Given the description of an element on the screen output the (x, y) to click on. 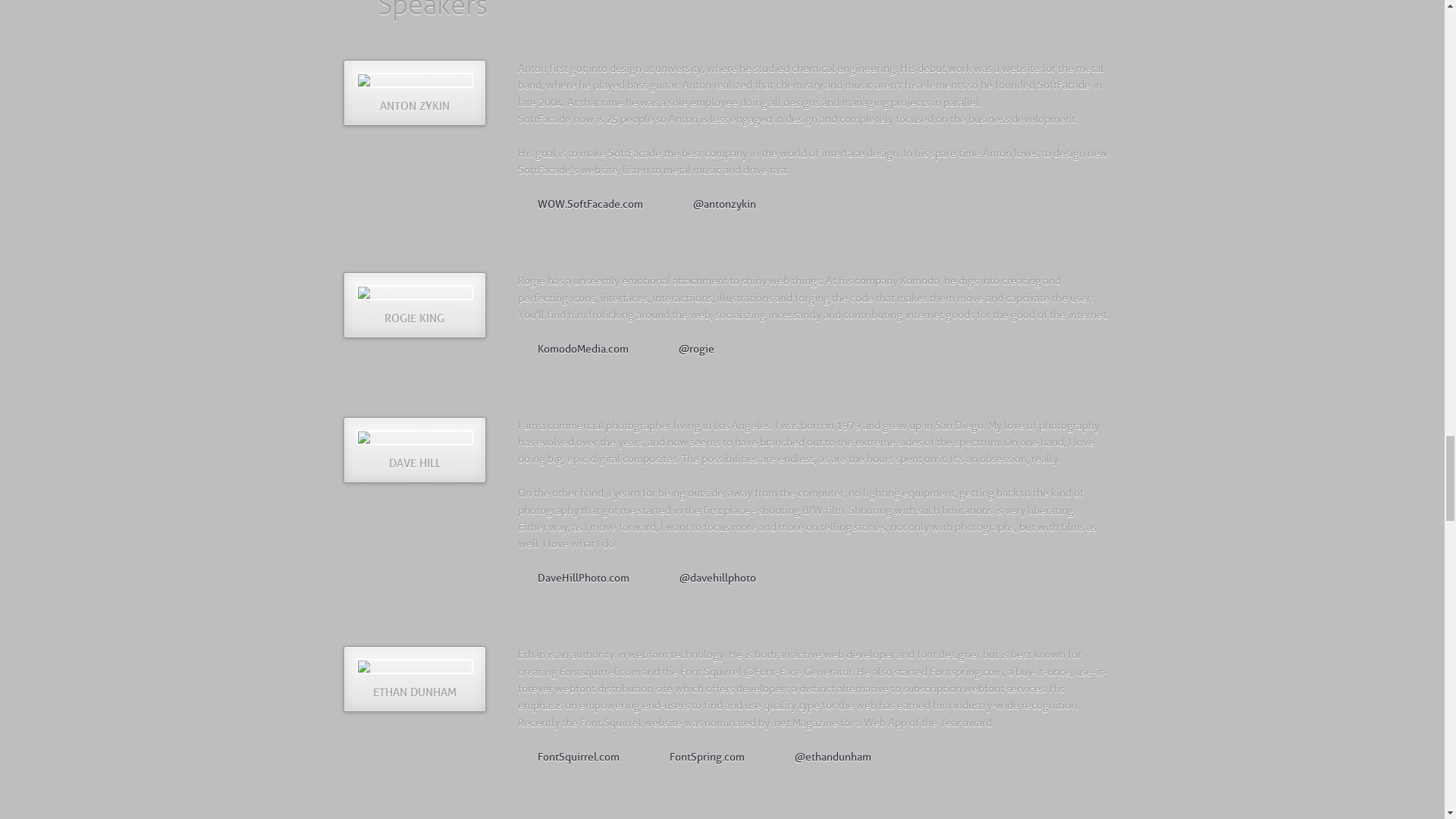
FontSpring.com (696, 755)
DaveHillPhoto.com (572, 576)
KomodoMedia.com (571, 347)
WOW.SoftFacade.com (579, 202)
FontSquirrel.com (567, 755)
